Given the description of an element on the screen output the (x, y) to click on. 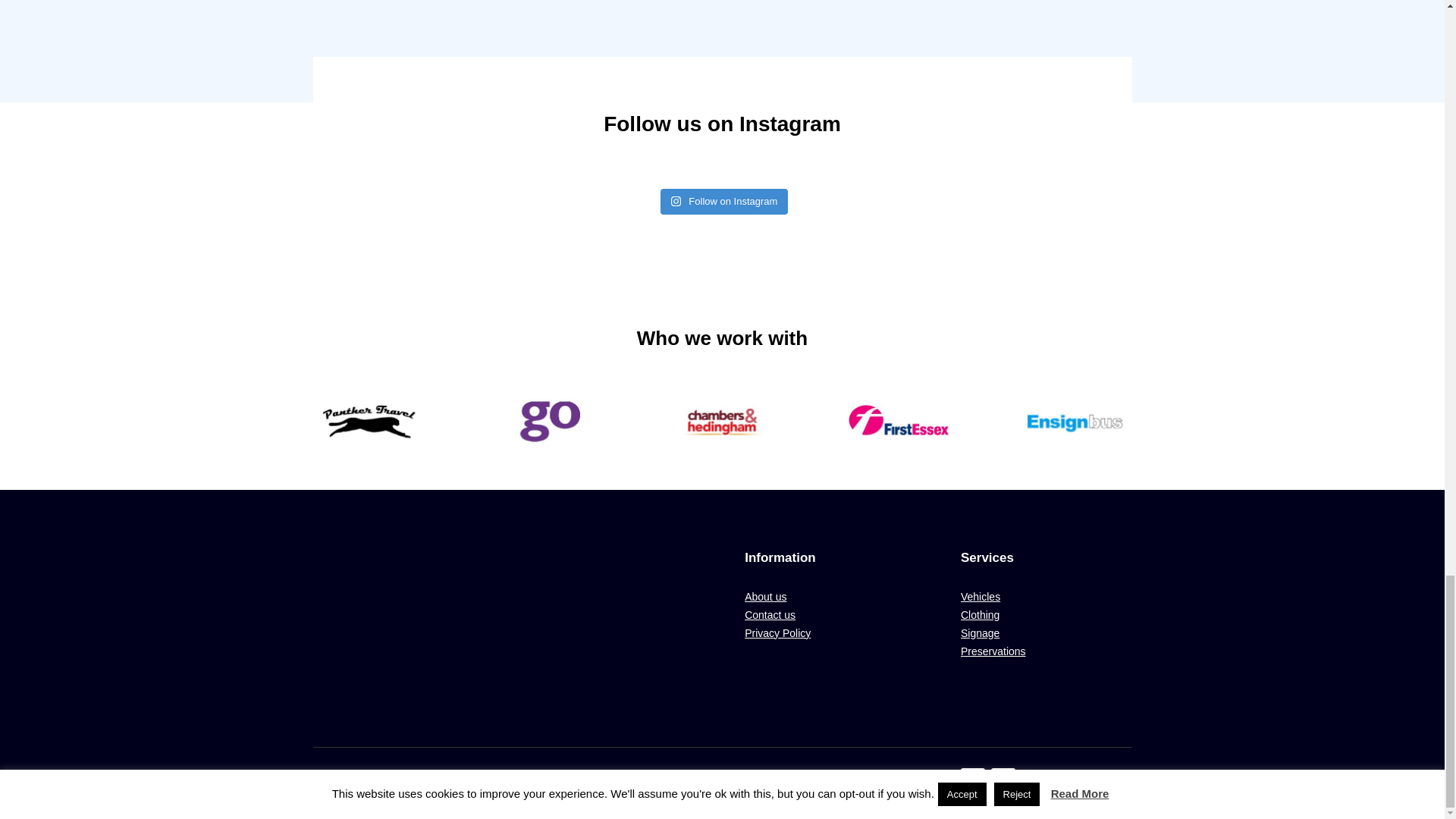
Website Created by Scott Pearson (521, 776)
Vehicles (980, 596)
Ensign Bus (1074, 421)
Preservations (993, 651)
Contact us (769, 614)
Privacy Policy (777, 633)
Chambers and Hedingham (721, 421)
go coach (545, 421)
Signage (979, 633)
First Bus Essex (898, 421)
Clothing (979, 614)
Follow on Instagram (725, 201)
About us (765, 596)
Panther Travel (369, 421)
